Given the description of an element on the screen output the (x, y) to click on. 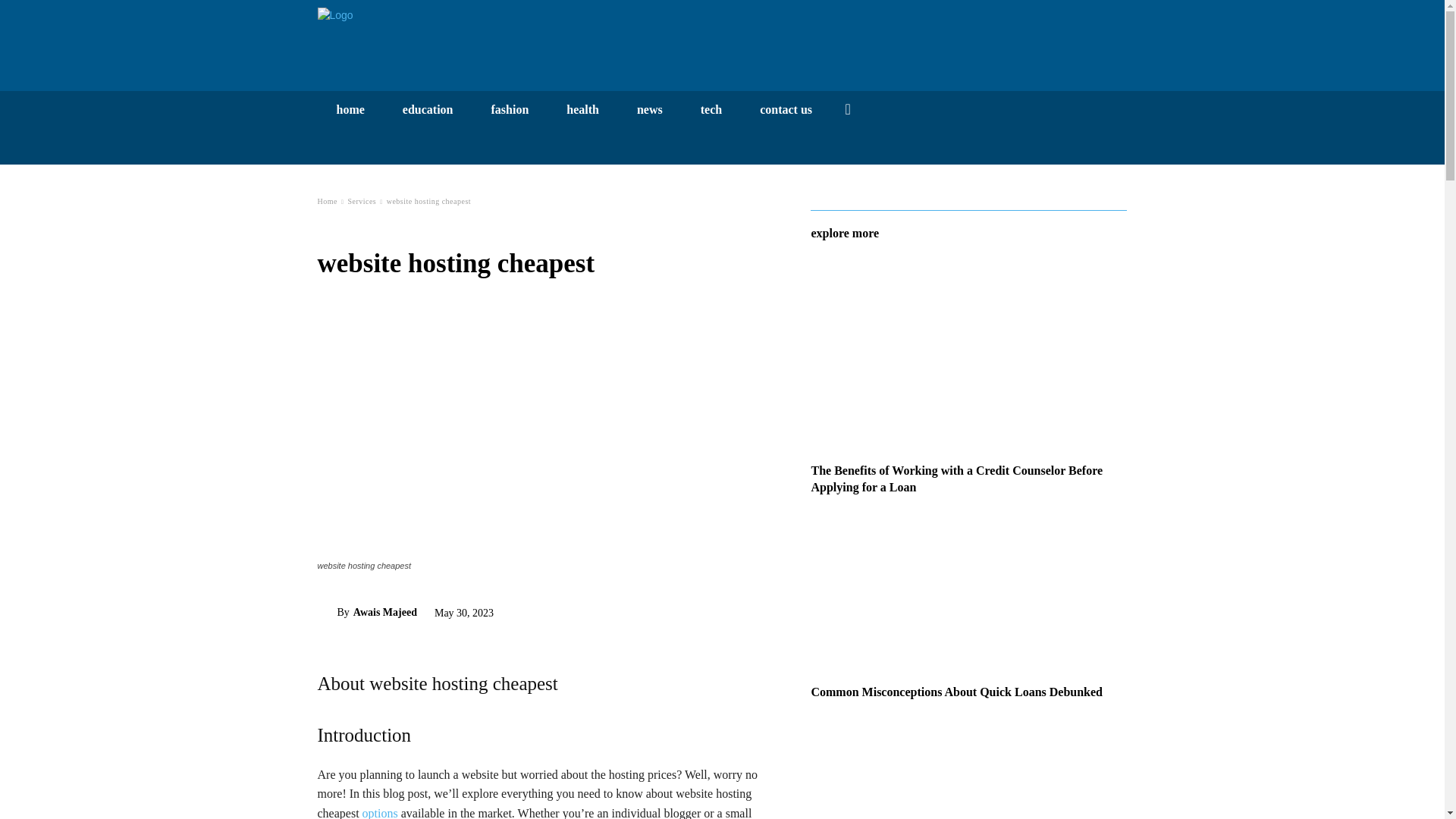
tech (711, 108)
Awais Majeed (384, 612)
fashion (509, 108)
View all posts in Services (361, 201)
Awais Majeed (326, 612)
health (582, 108)
Services (361, 201)
news (649, 108)
contact us (786, 108)
